Given the description of an element on the screen output the (x, y) to click on. 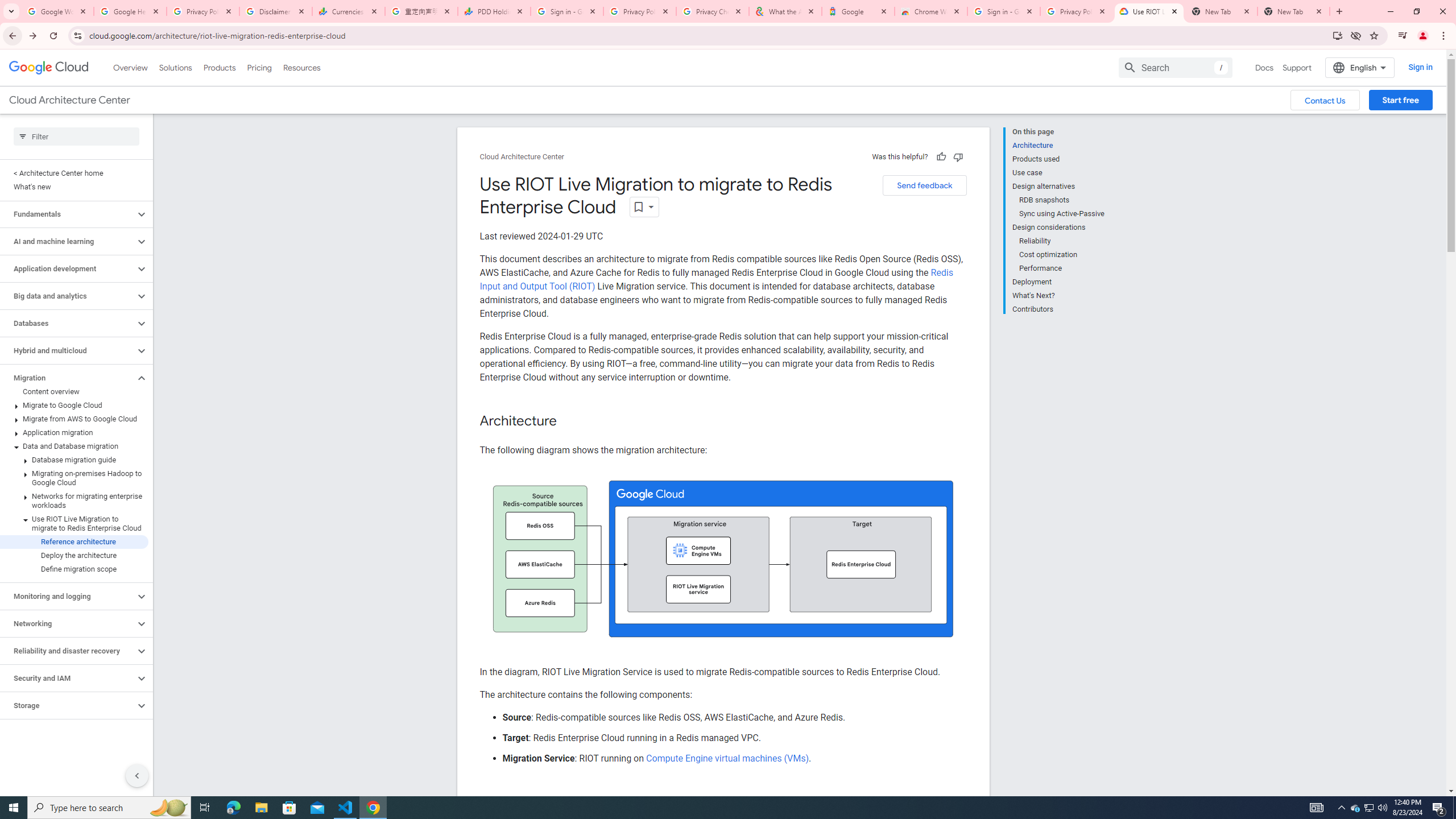
Monitoring and logging (67, 596)
Deployment (1058, 282)
Big data and analytics (67, 296)
Pricing (259, 67)
Networks for migrating enterprise workloads (74, 500)
Privacy Checkup (712, 11)
Storage (67, 705)
Google (857, 11)
